Given the description of an element on the screen output the (x, y) to click on. 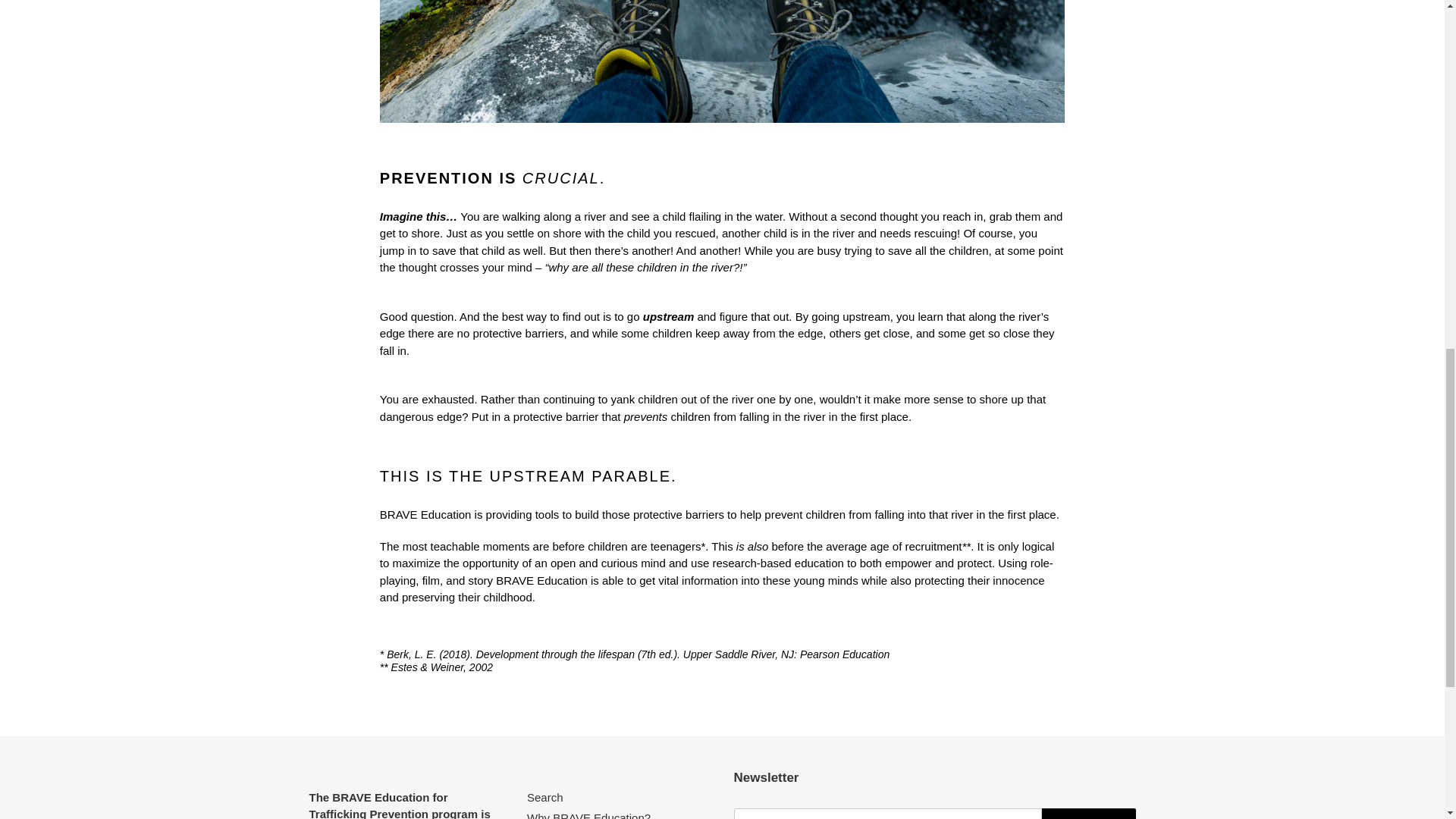
Search (545, 797)
Why BRAVE Education? (588, 815)
SUBSCRIBE (1088, 813)
